Given the description of an element on the screen output the (x, y) to click on. 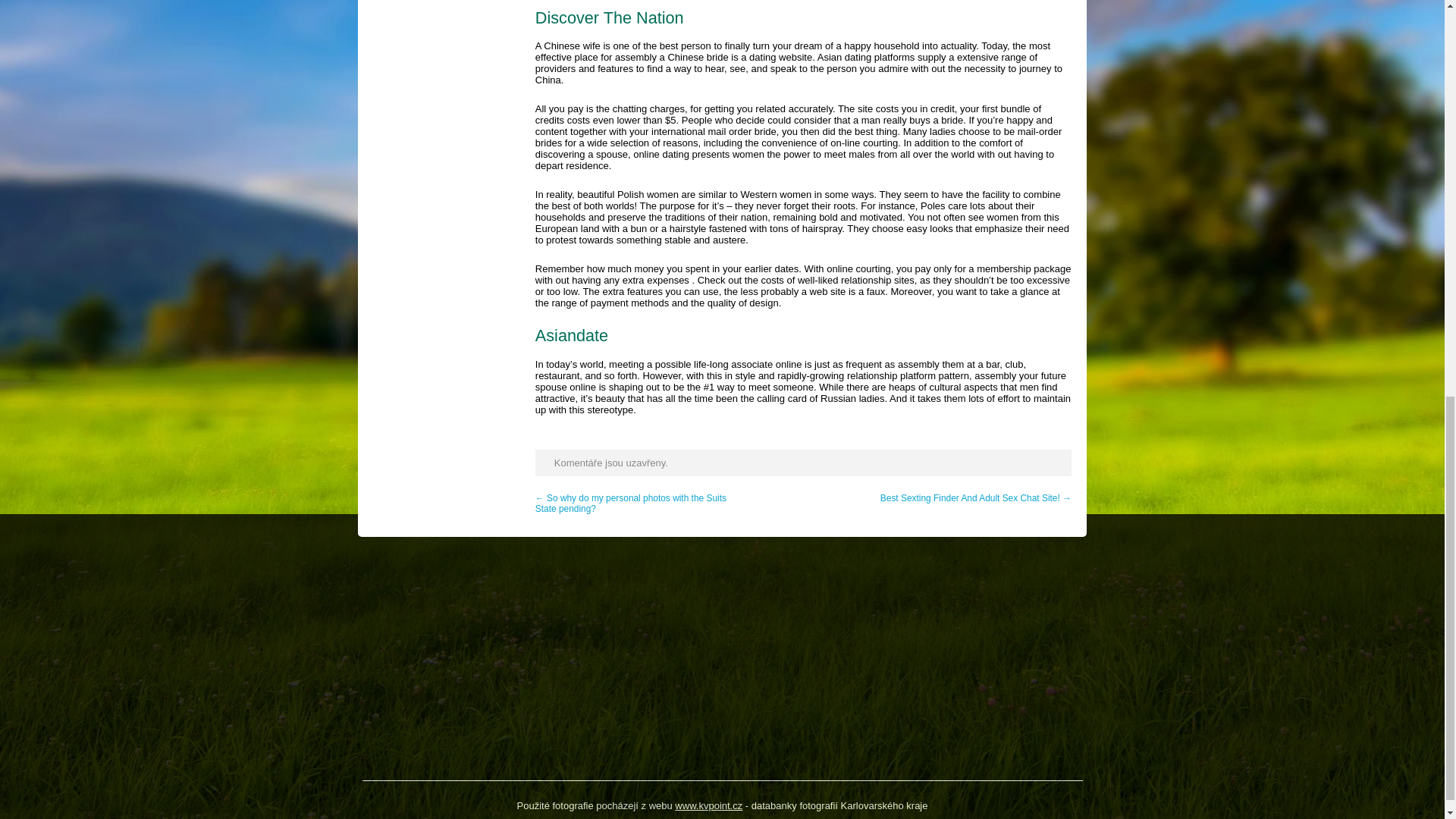
www.kvpoint.cz (708, 805)
KVPoint.cz (708, 805)
